Given the description of an element on the screen output the (x, y) to click on. 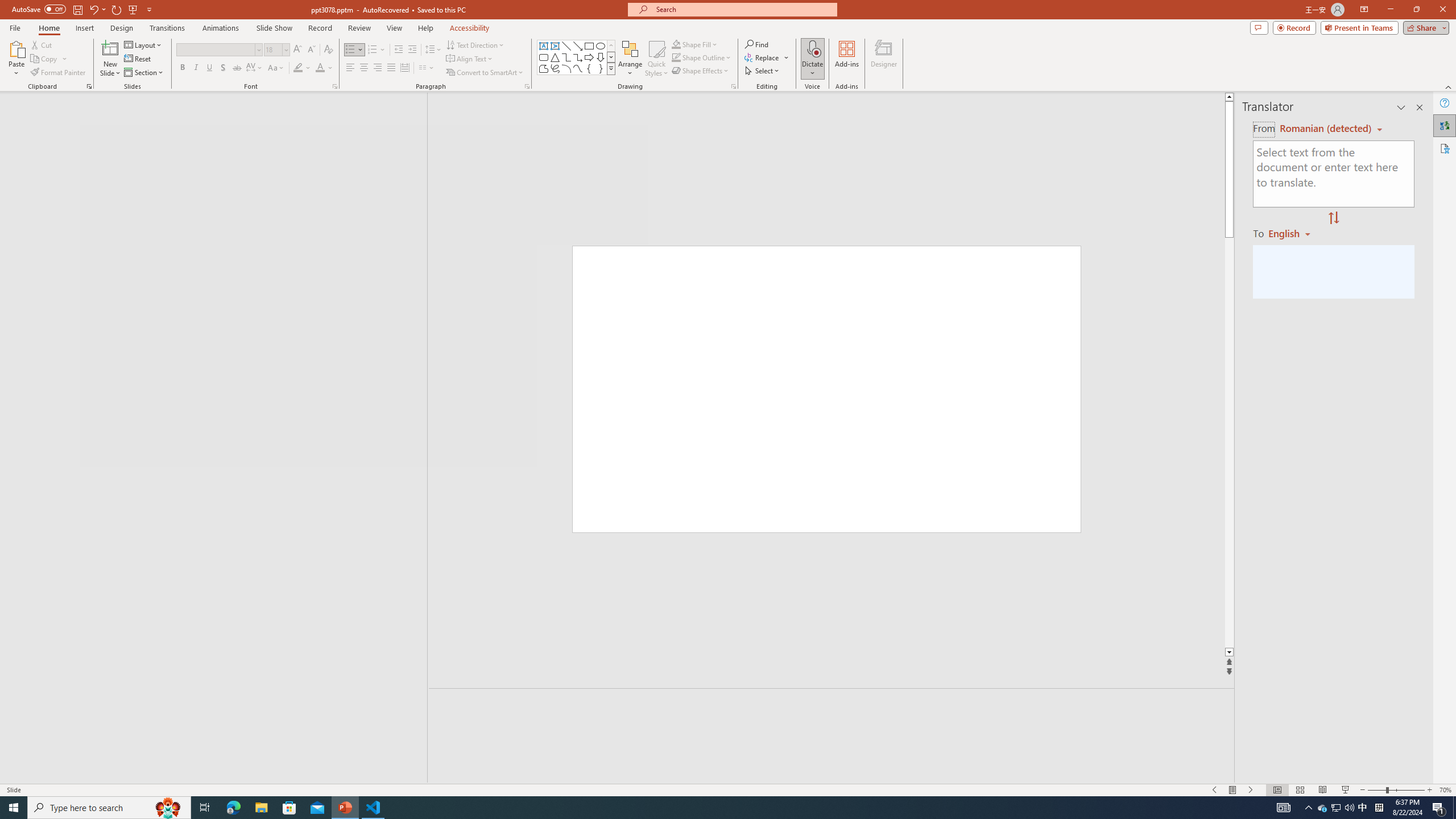
Shape Effects (700, 69)
Outline (218, 122)
Swap "from" and "to" languages. (1333, 218)
